Given the description of an element on the screen output the (x, y) to click on. 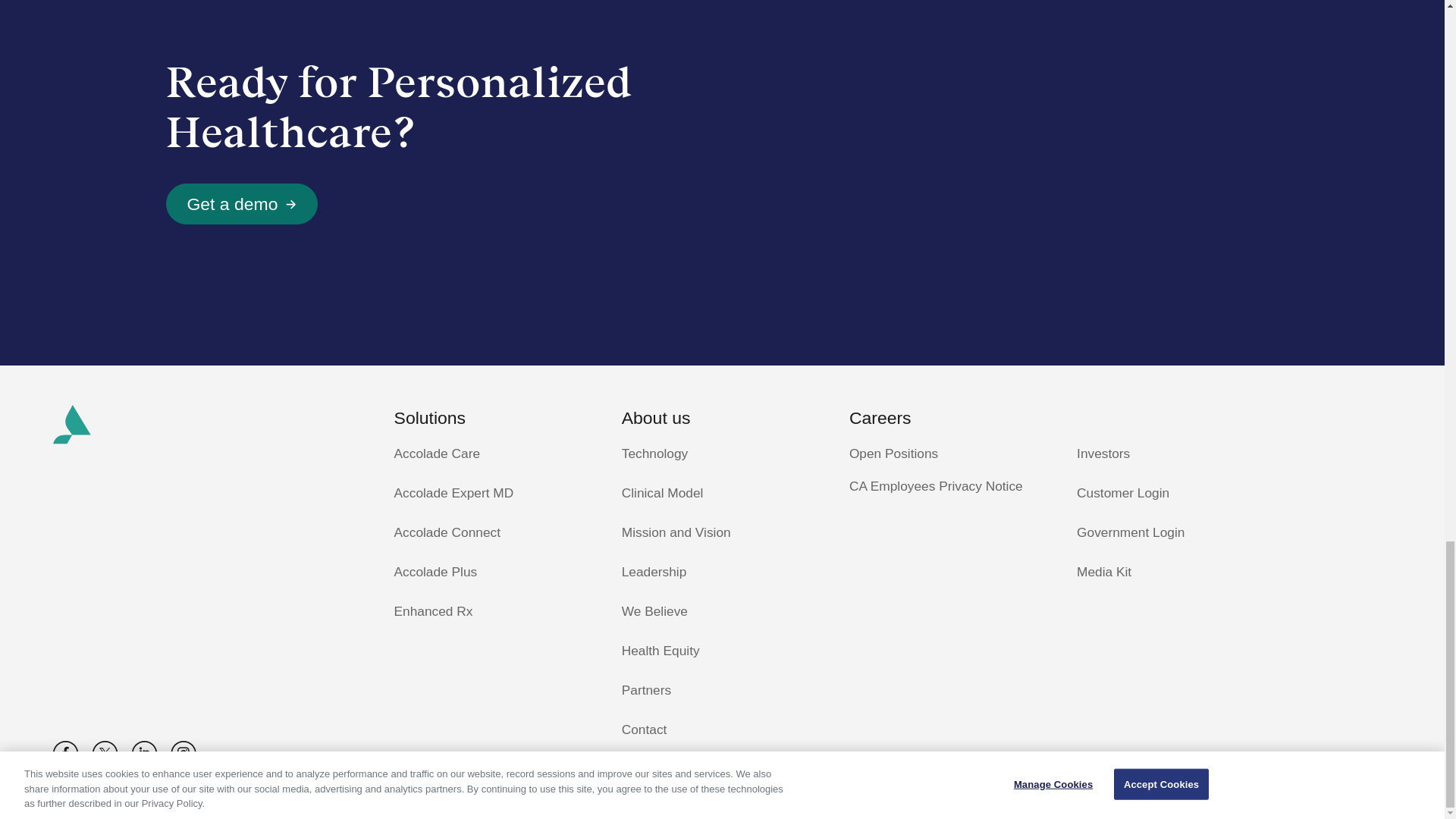
Accolade Expert MD (494, 493)
We Believe (722, 611)
Contact (722, 730)
Facebook (241, 203)
LinkedIn (65, 753)
Mission and Vision (144, 753)
Twitter (722, 532)
Clinical Model (104, 753)
Solutions (722, 493)
Accolade Care (494, 424)
Technology (494, 454)
Accolade Connect (722, 454)
Customer Login (494, 532)
Open Positions (1177, 493)
